Given the description of an element on the screen output the (x, y) to click on. 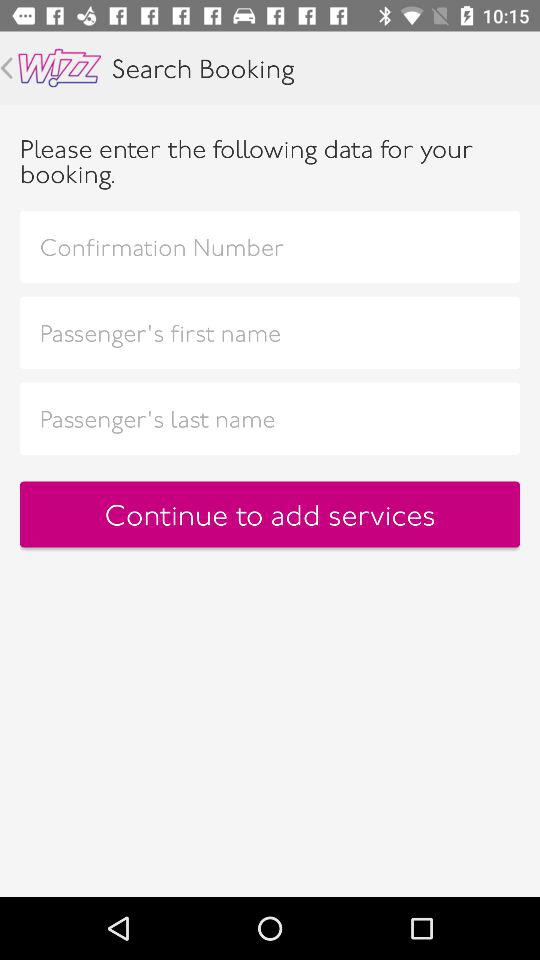
jump to the continue to add (269, 514)
